Given the description of an element on the screen output the (x, y) to click on. 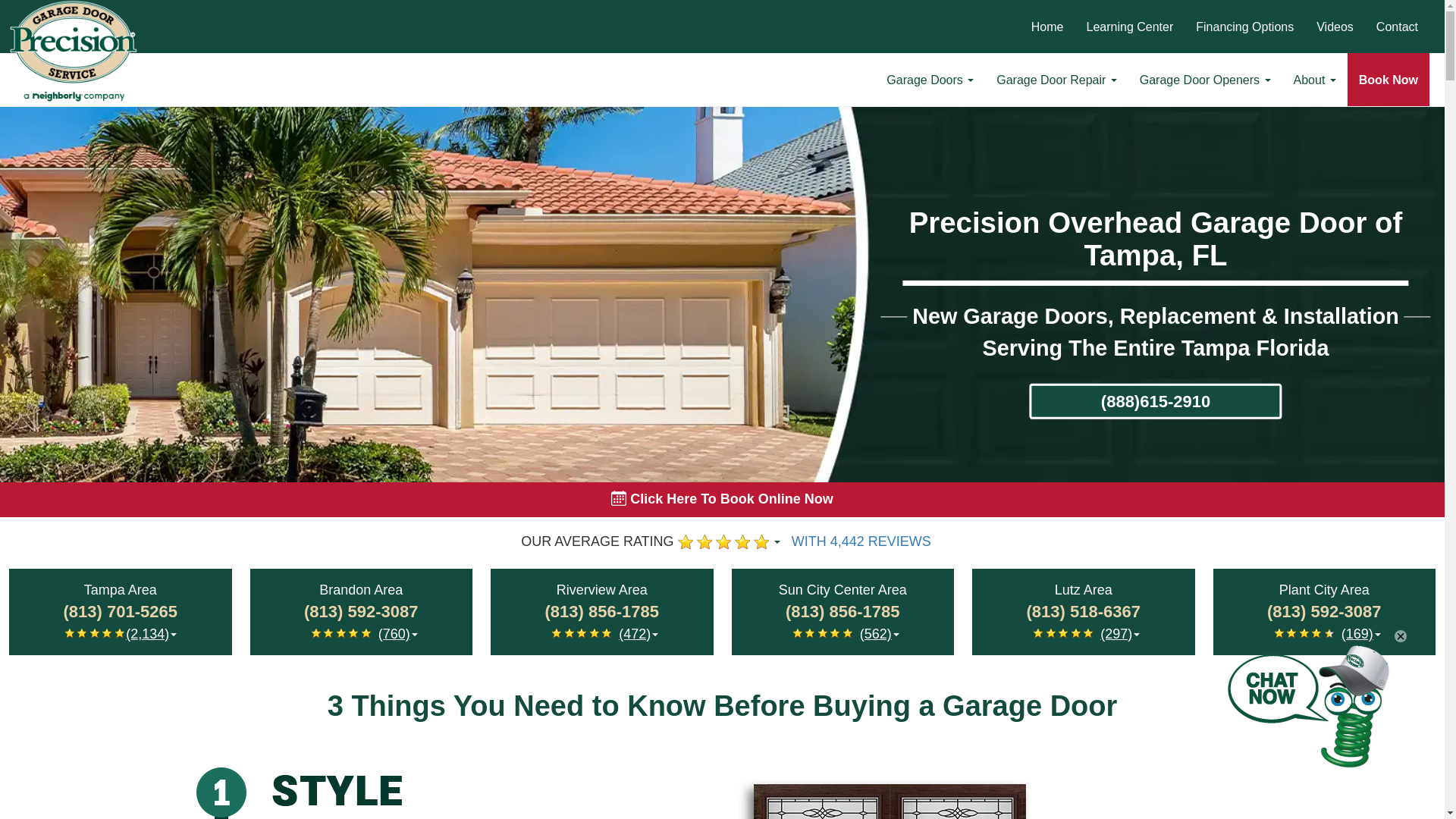
Videos (1334, 26)
excellent (723, 541)
excellent (742, 541)
Book Now (1388, 79)
excellent (685, 541)
Home (1047, 26)
About (1315, 79)
Contact (1397, 26)
excellent (315, 633)
excellent (81, 633)
excellent (69, 633)
excellent (761, 541)
Garage Doors (930, 79)
excellent (119, 633)
excellent (328, 633)
